Given the description of an element on the screen output the (x, y) to click on. 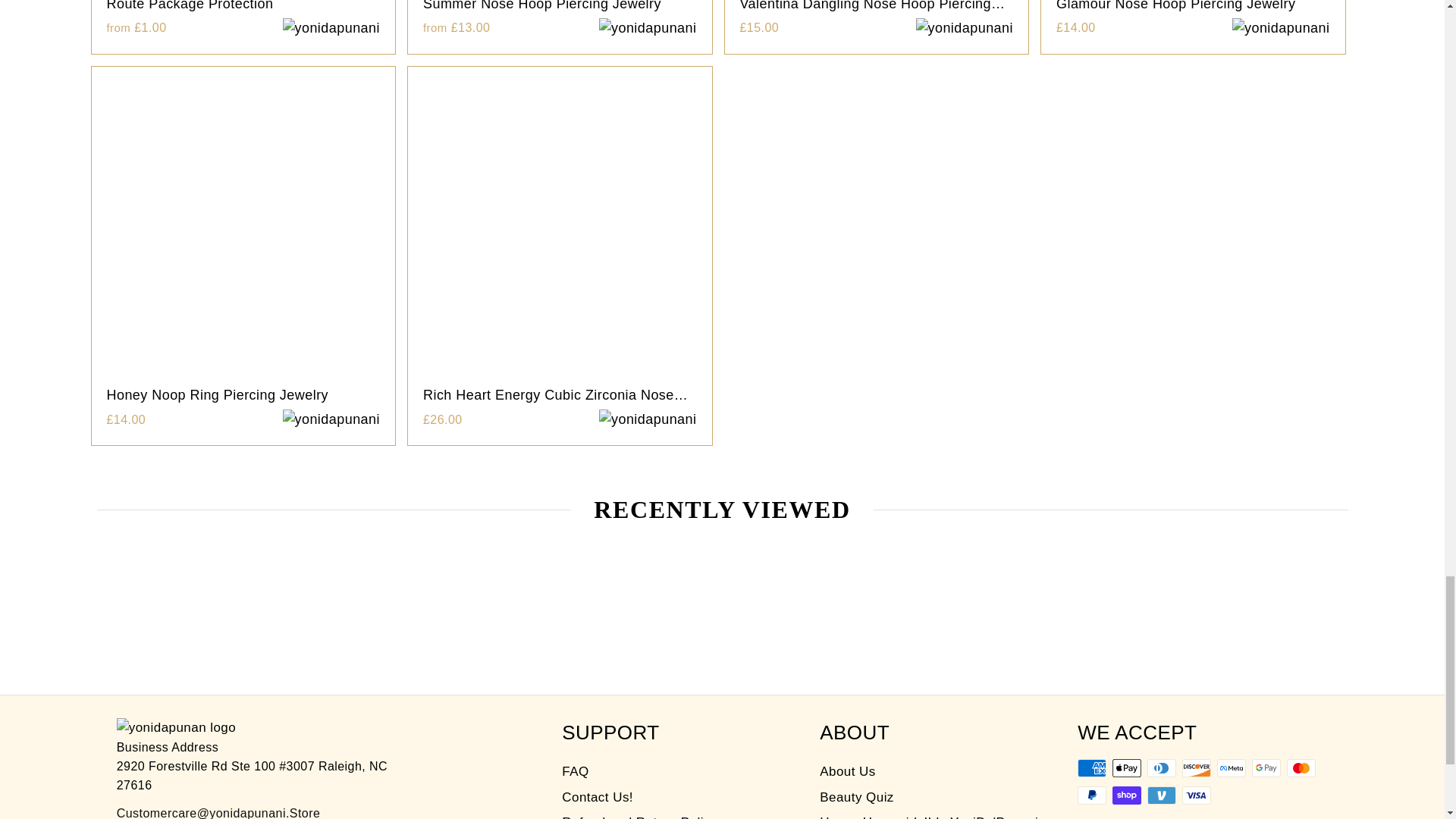
Add to cart (331, 28)
Add to cart (647, 419)
Add to cart (647, 28)
Add to cart (964, 28)
Add to cart (1280, 28)
Add to cart (331, 419)
